Given the description of an element on the screen output the (x, y) to click on. 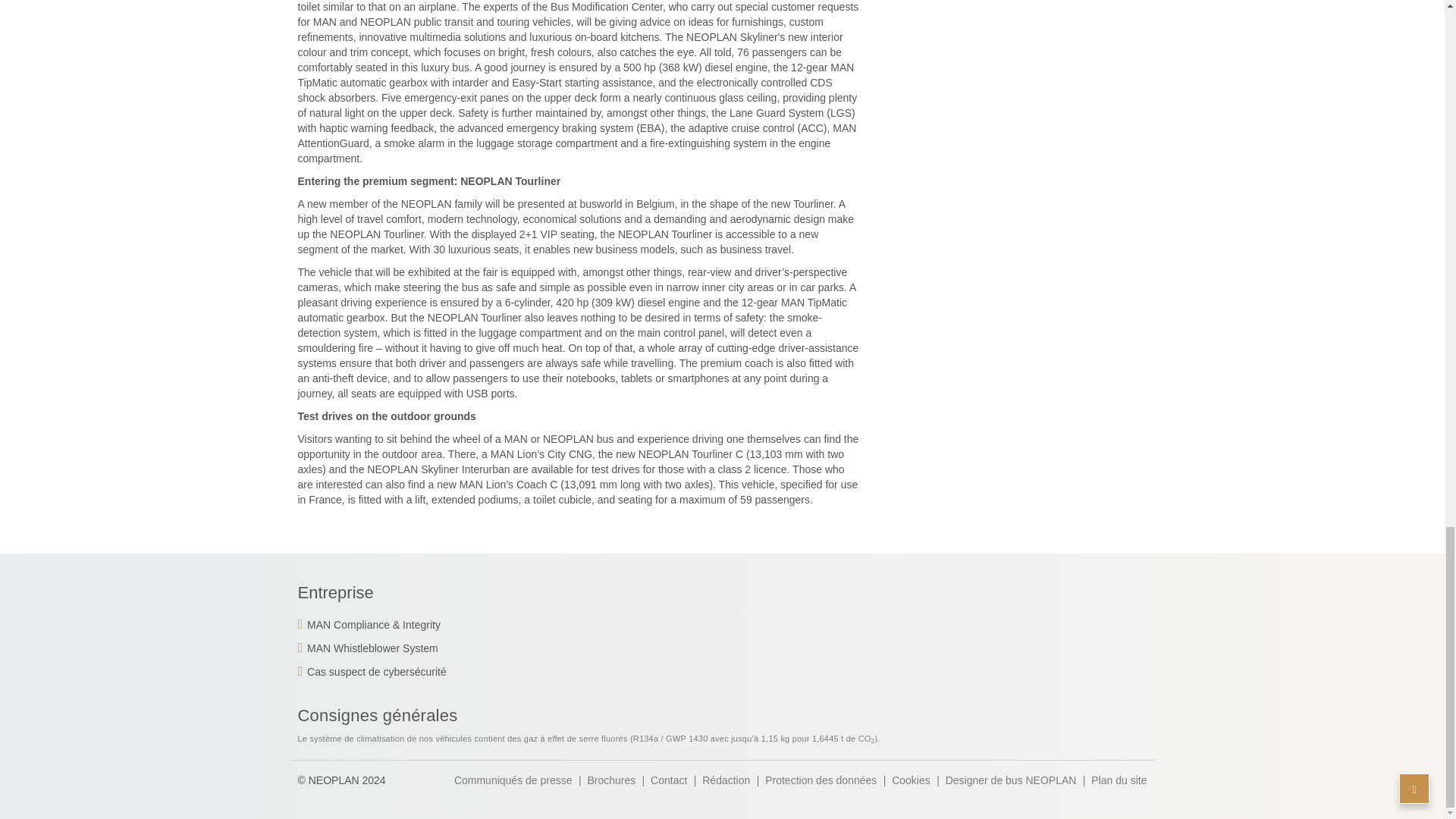
Designer de bus NEOPLAN (1010, 780)
MAN Whistleblower System (367, 648)
Cookies (910, 780)
Brochures (610, 780)
Plan du site (1118, 780)
Contact (668, 780)
